Given the description of an element on the screen output the (x, y) to click on. 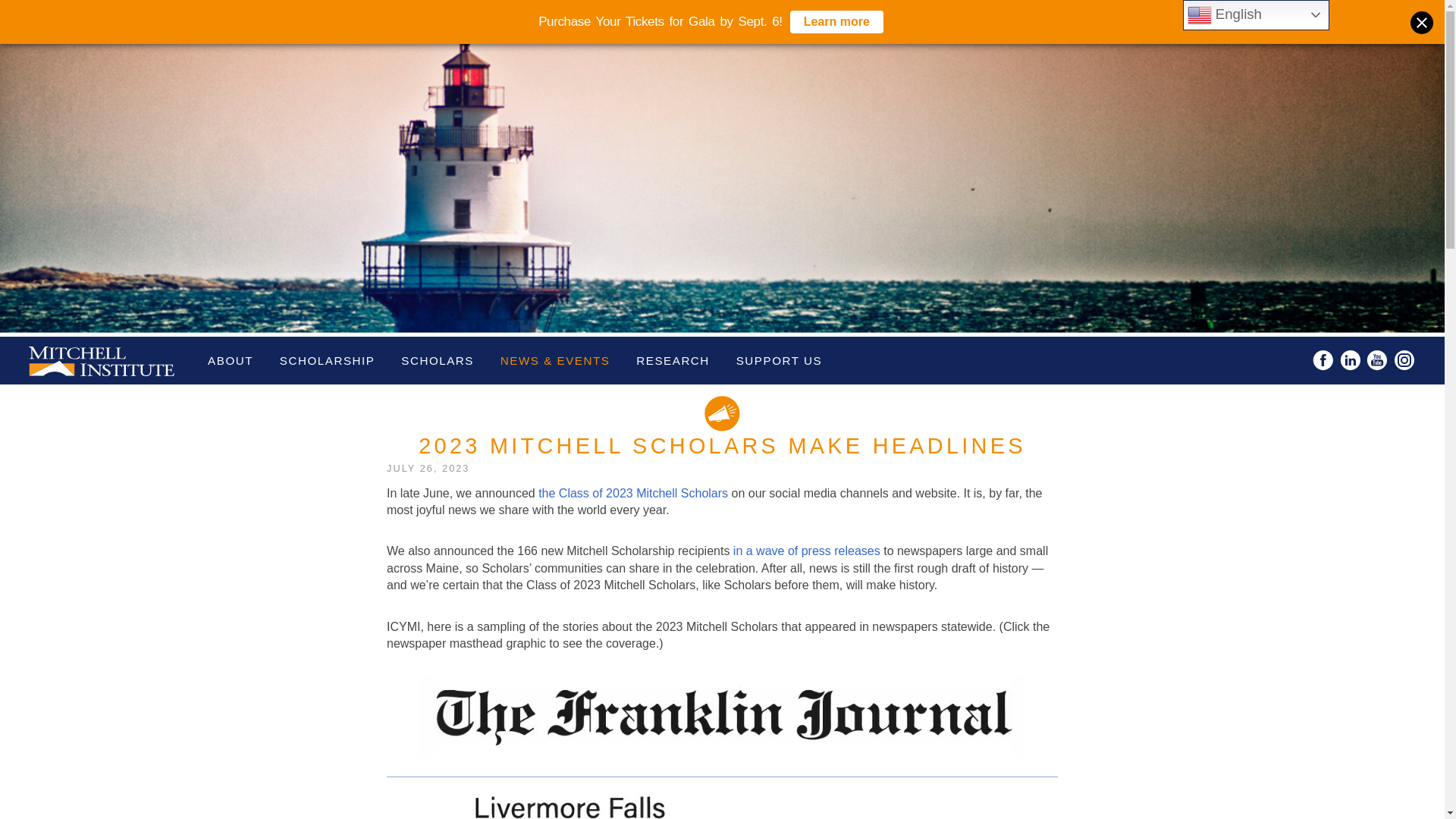
SCHOLARSHIP (327, 360)
SUPPORT US (779, 360)
the Class of 2023 Mitchell Scholars (633, 492)
SCHOLARS (437, 360)
ABOUT (230, 360)
in a wave of press releases (806, 550)
RESEARCH (672, 360)
